Given the description of an element on the screen output the (x, y) to click on. 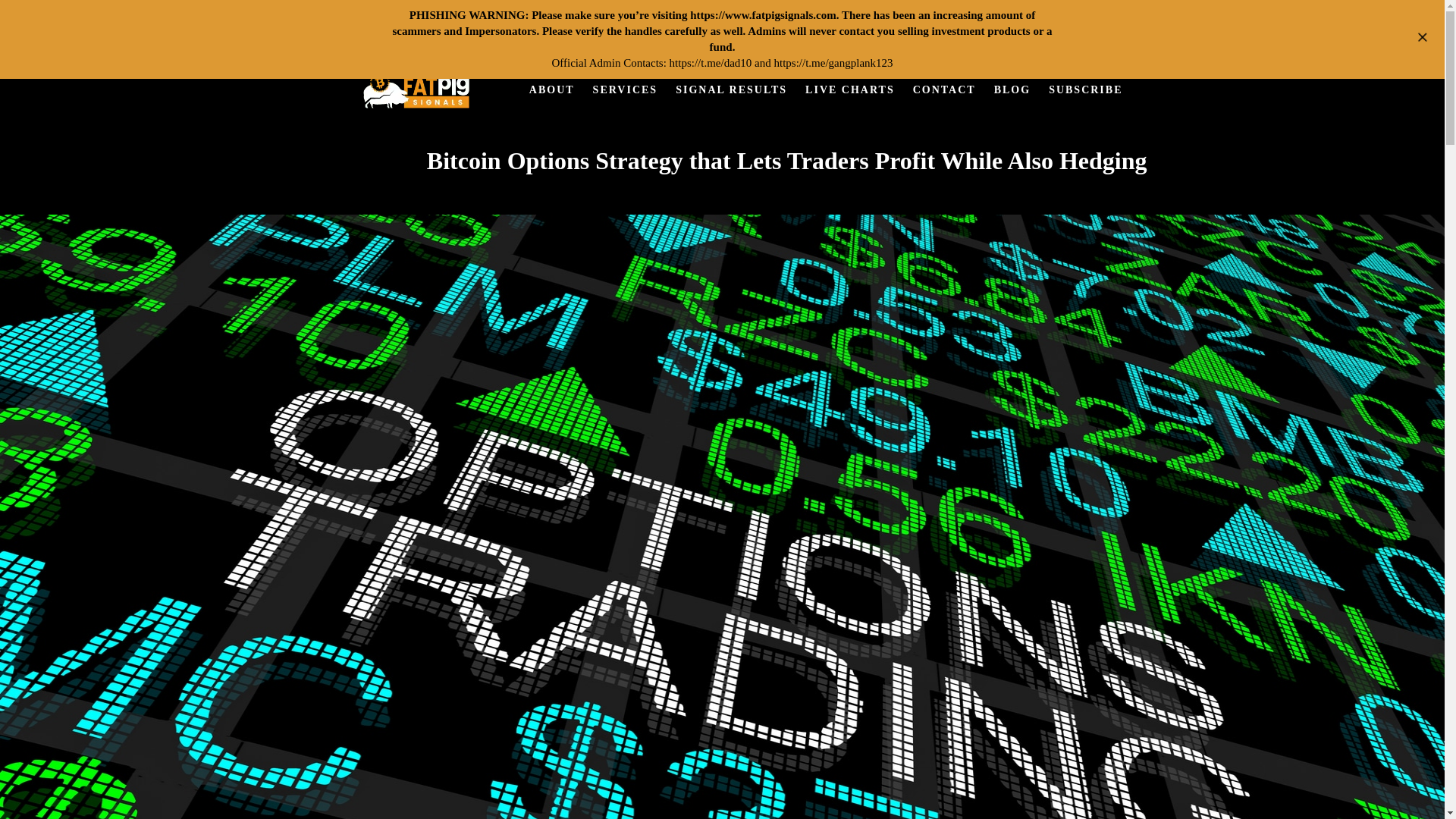
SIGNAL RESULTS (731, 89)
SUBSCRIBE (1085, 89)
SERVICES (624, 89)
CONTACT (944, 89)
LIVE CHARTS (850, 89)
ABOUT (551, 89)
BLOG (1012, 89)
